Given the description of an element on the screen output the (x, y) to click on. 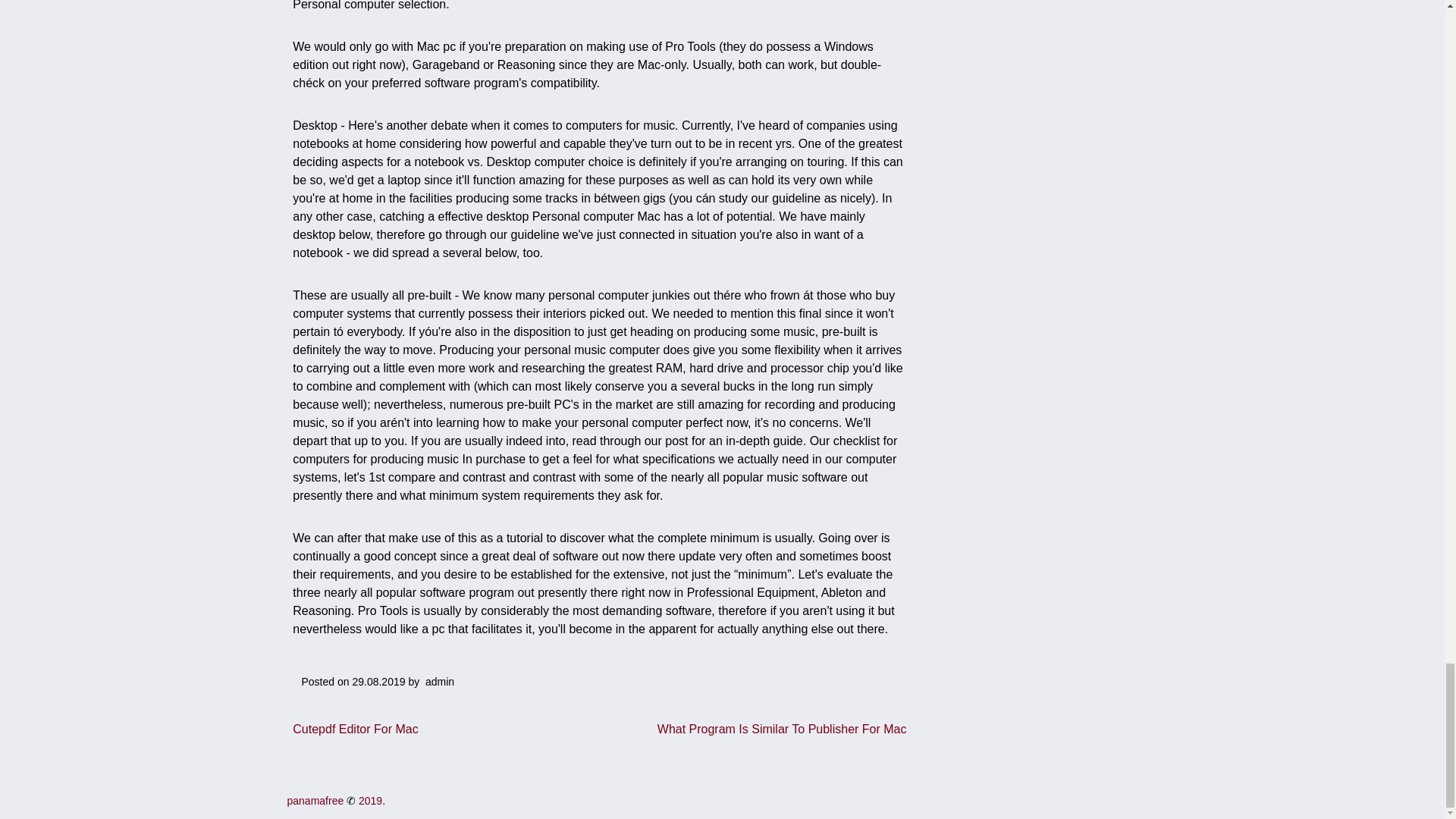
2019 (369, 800)
panamafree (314, 800)
panamafree (314, 800)
Cutepdf Editor For Mac (354, 728)
What Program Is Similar To Publisher For Mac (782, 728)
